Given the description of an element on the screen output the (x, y) to click on. 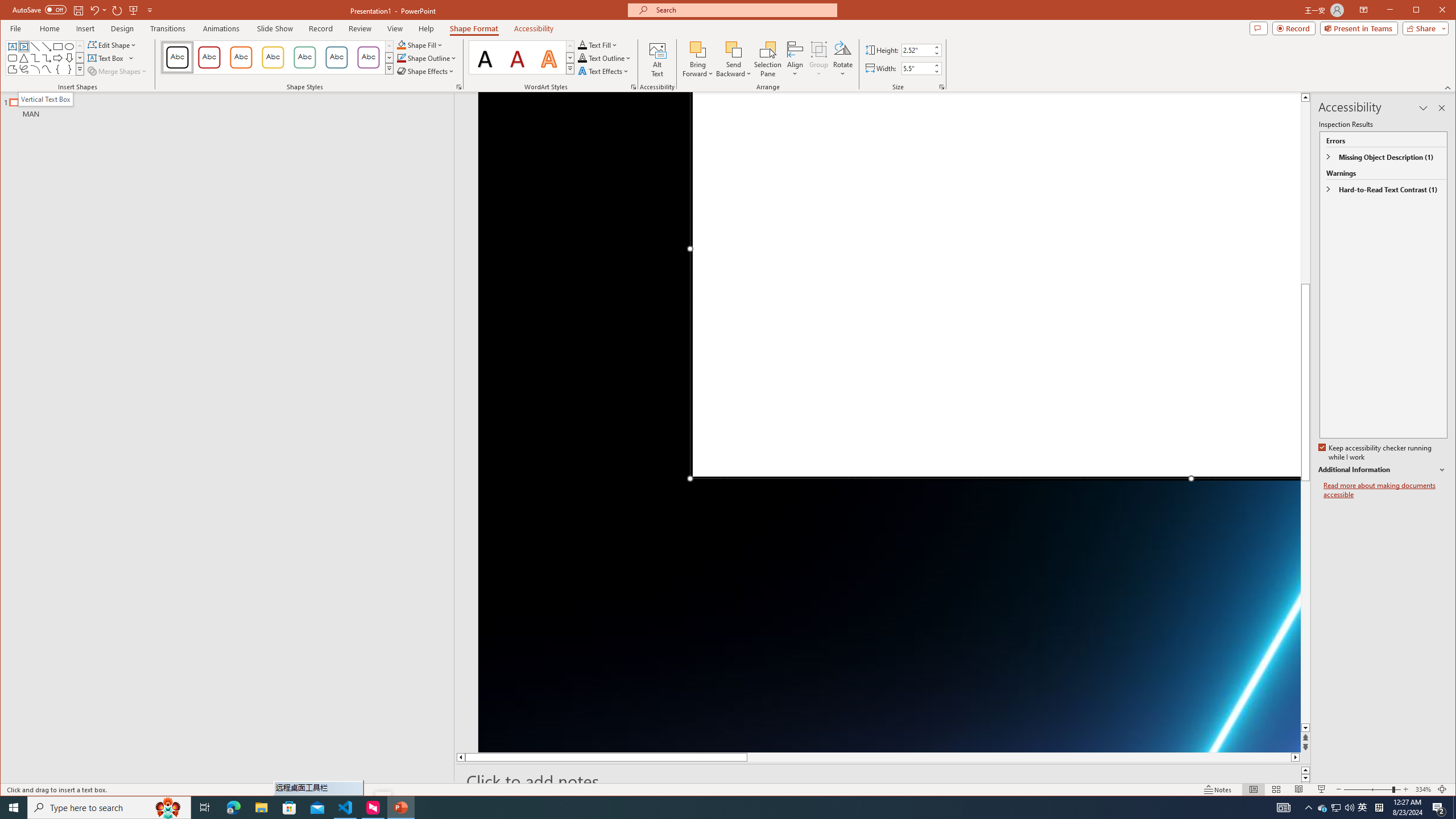
Send Backward (733, 48)
Send Backward (733, 59)
Neon laser lights aligned to form a triangle (889, 421)
Size and Position... (941, 86)
